Given the description of an element on the screen output the (x, y) to click on. 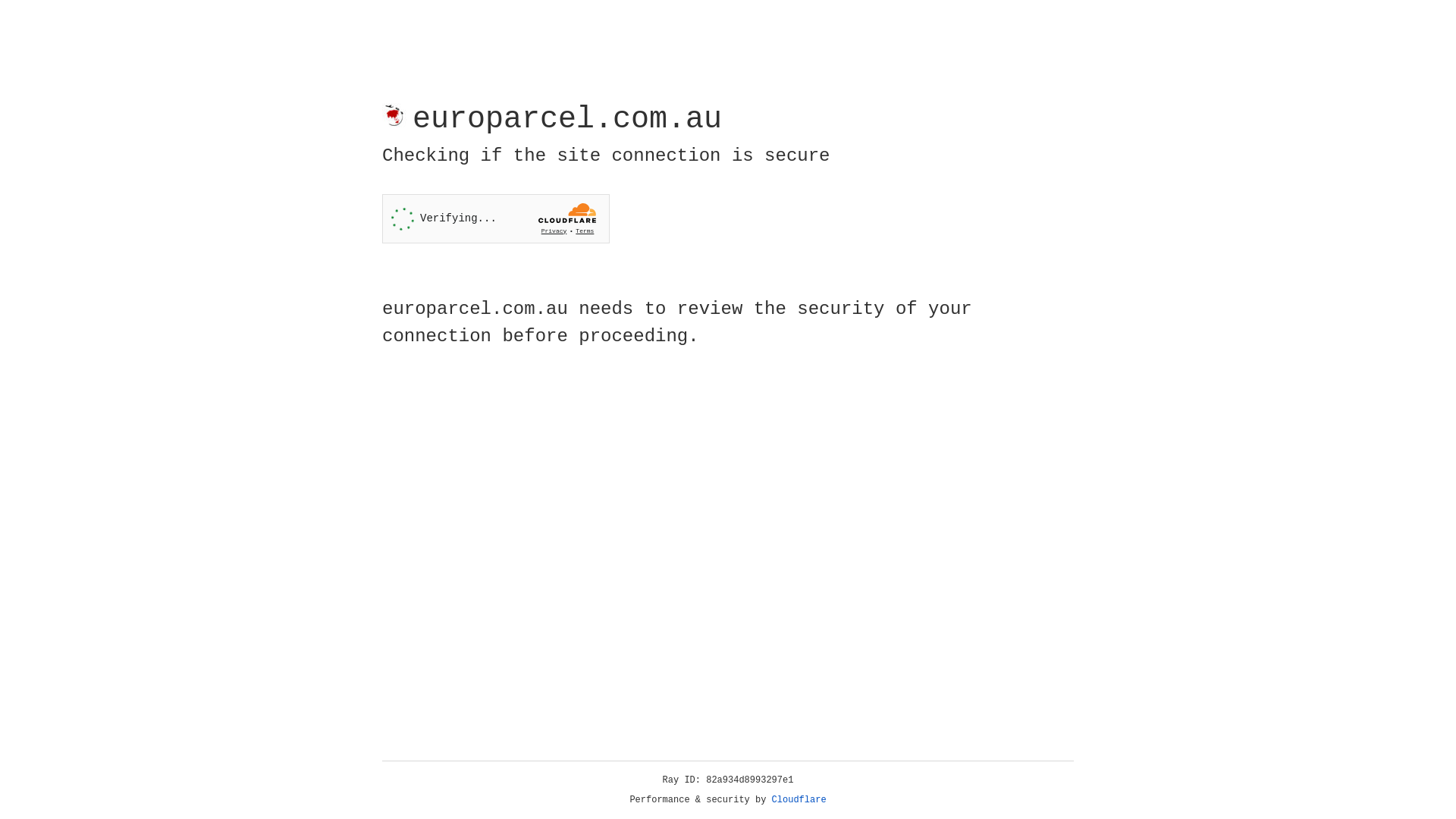
Cloudflare Element type: text (798, 799)
Widget containing a Cloudflare security challenge Element type: hover (495, 218)
